Given the description of an element on the screen output the (x, y) to click on. 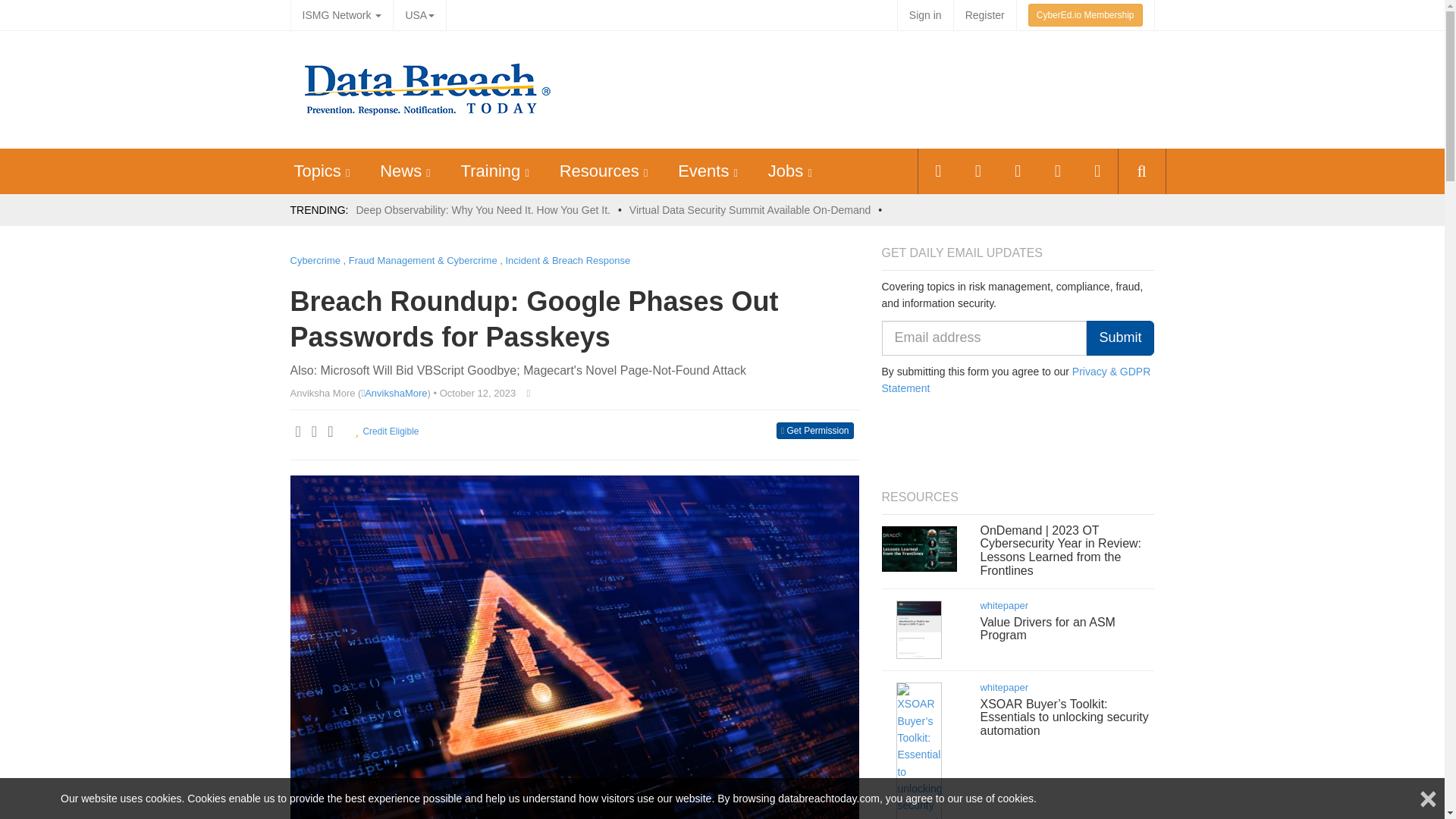
USA (418, 15)
Register (984, 15)
CyberEd.io Membership (1084, 15)
Sign in (925, 15)
Topics (317, 170)
ISMG Network (341, 15)
